Given the description of an element on the screen output the (x, y) to click on. 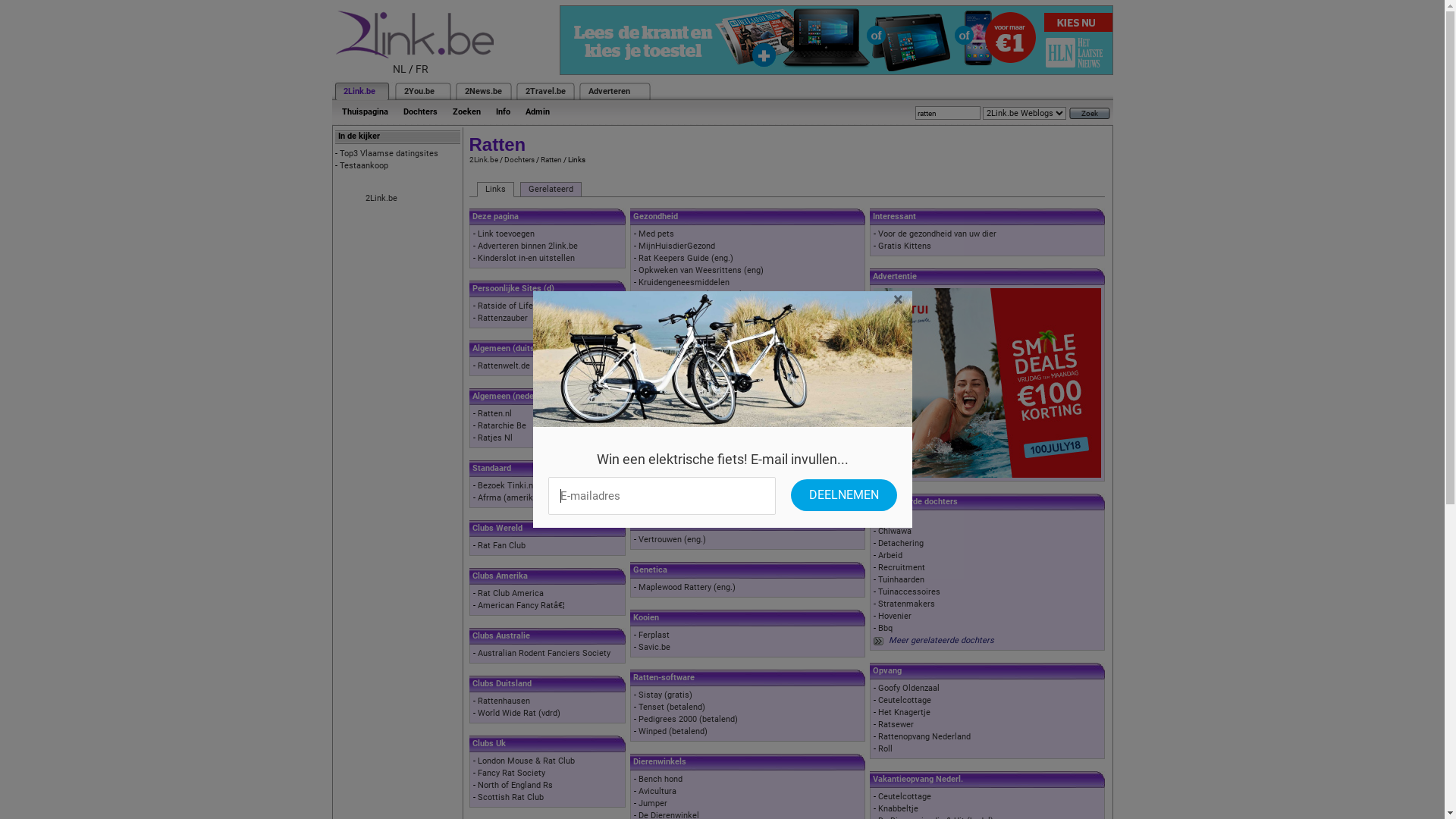
Ratside of Life Element type: text (505, 305)
Ratsewer Element type: text (895, 724)
2News.be Element type: text (482, 91)
Ratarchie Be Element type: text (501, 425)
Kinderslot in-en uitstellen Element type: text (525, 258)
Echte Kerels Element type: text (662, 354)
Zoek Element type: text (1089, 113)
Ratten Element type: text (890, 519)
Ratjes Nl Element type: text (494, 437)
Arbeid Element type: text (890, 555)
Admin Element type: text (536, 111)
Winped (betalend) Element type: text (672, 731)
Tenset (betalend) Element type: text (671, 707)
NL Element type: text (399, 68)
Meer gerelateerde dochters Element type: text (941, 640)
Ceutelcottage Element type: text (904, 796)
Opkweken van Weesrittens (eng) Element type: text (700, 270)
Zoeken Element type: text (465, 111)
Savic.be Element type: text (654, 647)
2Link.be Element type: text (381, 198)
Het Knagertje Element type: text (904, 712)
Nol en Anette Element type: text (664, 366)
Kruidengeneesmiddelen Element type: text (683, 282)
Voor de gezondheid van uw dier Element type: text (937, 233)
Bbq Element type: text (885, 628)
Ferplast Element type: text (653, 635)
Bench hond Element type: text (660, 779)
2Link.be Element type: text (358, 91)
Avicultura Element type: text (657, 791)
Bezoek Tinki.nl Element type: text (506, 485)
Goofy Oldenzaal Element type: text (908, 688)
Adverteren binnen 2link.be Element type: text (527, 246)
FR Element type: text (421, 68)
Thuispagina Element type: text (364, 111)
Gerelateerd Element type: text (550, 189)
Rattenpage Element type: text (659, 390)
Tuinaccessoires Element type: text (909, 591)
Info Element type: text (502, 111)
Med pets Element type: text (656, 233)
Pedigrees 2000 (betalend) Element type: text (687, 719)
Gratis Kittens Element type: text (904, 246)
Stan Van Kesteren Element type: text (673, 402)
Hovenier Element type: text (894, 616)
Recruitment Element type: text (901, 567)
Dochters Element type: text (518, 159)
Chiwawa Element type: text (894, 531)
Fancy Rat Society Element type: text (511, 773)
Testaankoop Element type: text (363, 165)
Rattenopvang Nederland Element type: text (924, 736)
2Link.be Element type: text (482, 159)
Rat Fan Club Element type: text (501, 545)
Rattenhausen Element type: text (503, 701)
Diana Element type: text (648, 342)
2You.be Element type: text (418, 91)
Ratten Element type: text (550, 159)
Top3 Vlaamse datingsites Element type: text (388, 153)
Scottish Rat Club Element type: text (510, 797)
Link toevoegen Element type: text (505, 233)
Dochters Element type: text (420, 111)
MijnHuisdierGezond Element type: text (676, 246)
Vertrouwen (eng.) Element type: text (672, 539)
Knabbeltje Element type: text (898, 808)
Ratten.nl Element type: text (494, 413)
Dierenartsen De Blauwe Ark Element type: text (690, 294)
2Travel.be Element type: text (544, 91)
Tuinhaarden Element type: text (901, 579)
Detachering Element type: text (900, 543)
Maplewood Rattery (eng.) Element type: text (686, 587)
Australian Rodent Fanciers Society Element type: text (543, 653)
Links Element type: text (494, 189)
Sistay (gratis) Element type: text (665, 694)
Jumper Element type: text (652, 803)
Rat Club America Element type: text (510, 593)
Rattenzauber Element type: text (502, 318)
Ceutelcottage Element type: text (904, 700)
Rat Keepers Guide (eng.) Element type: text (685, 258)
North of England Rs Element type: text (514, 785)
Rat Palace (uk) Element type: text (667, 378)
World Wide Rat (vdrd) Element type: text (518, 713)
Roll Element type: text (885, 748)
Adverteren Element type: text (609, 91)
London Mouse & Rat Club Element type: text (525, 760)
Stratenmakers Element type: text (906, 603)
Afrma (amerika) Element type: text (508, 497)
Rattenwelt.de Element type: text (503, 365)
